Given the description of an element on the screen output the (x, y) to click on. 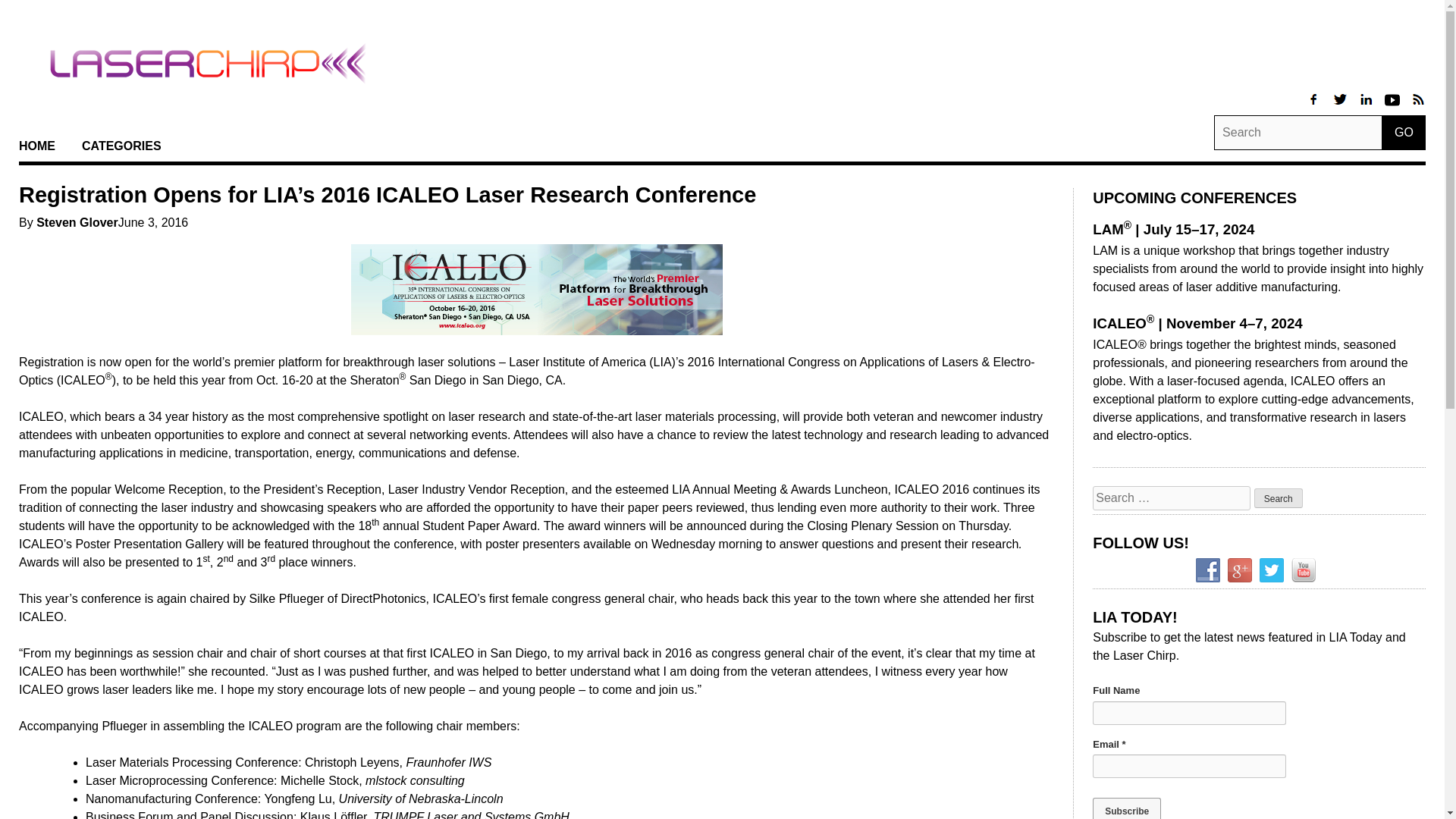
Link to LinkedIn Page (1367, 106)
Search (1278, 497)
Follow Us on Facebook (1207, 569)
Link to Facebook Profile (1314, 106)
Link to Twitter Page (1340, 106)
Search (1278, 497)
Link to LinkedIn Page (1393, 106)
HOME (36, 146)
Follow Us on Twitter (1271, 569)
Follow Us on YouTube (1303, 569)
